Given the description of an element on the screen output the (x, y) to click on. 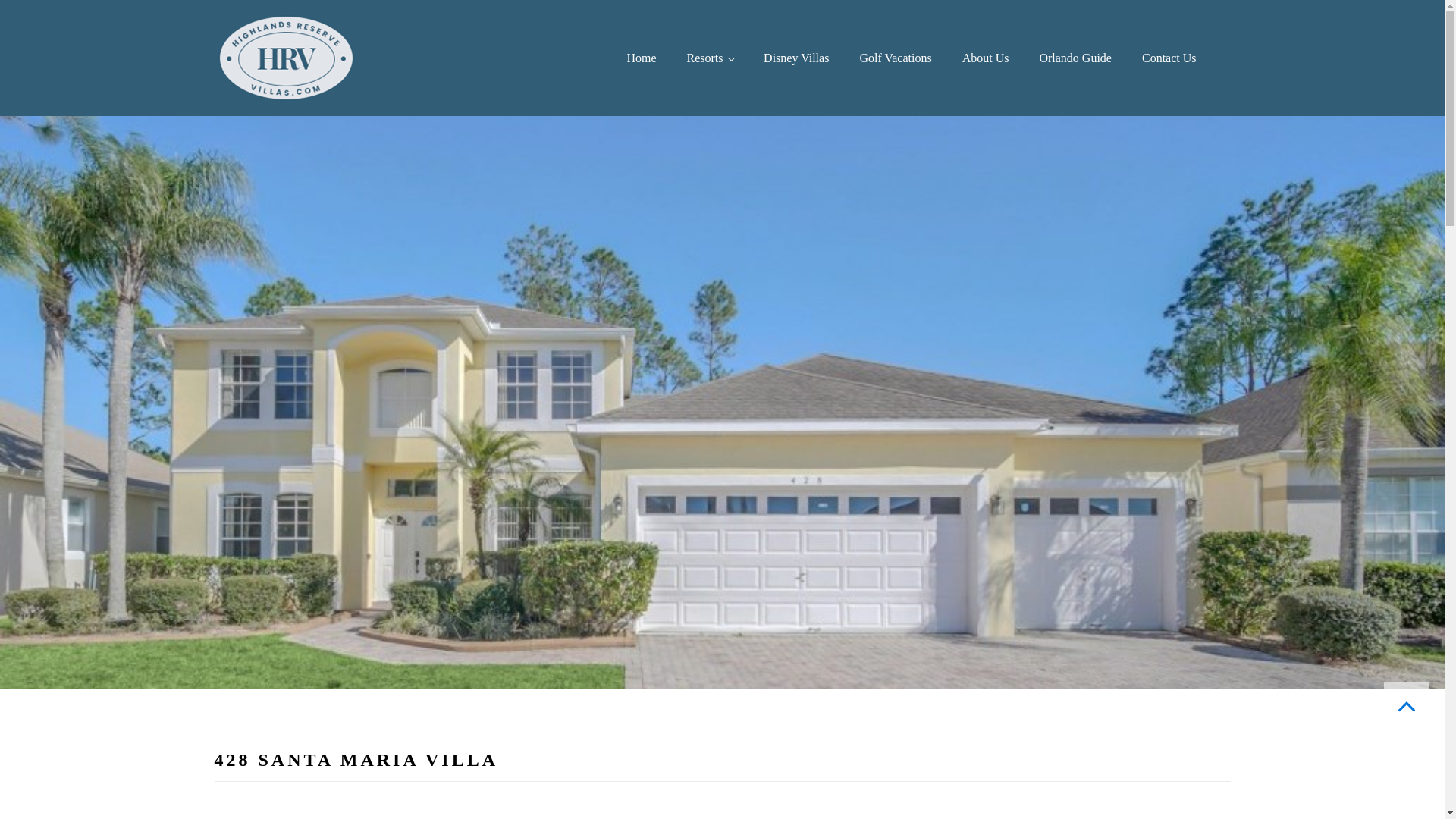
Disney Villas (796, 58)
About Us (986, 58)
Home (641, 58)
Golf Vacations (895, 58)
Contact Us (1168, 58)
Orlando Guide (1074, 58)
Resorts (710, 58)
